Given the description of an element on the screen output the (x, y) to click on. 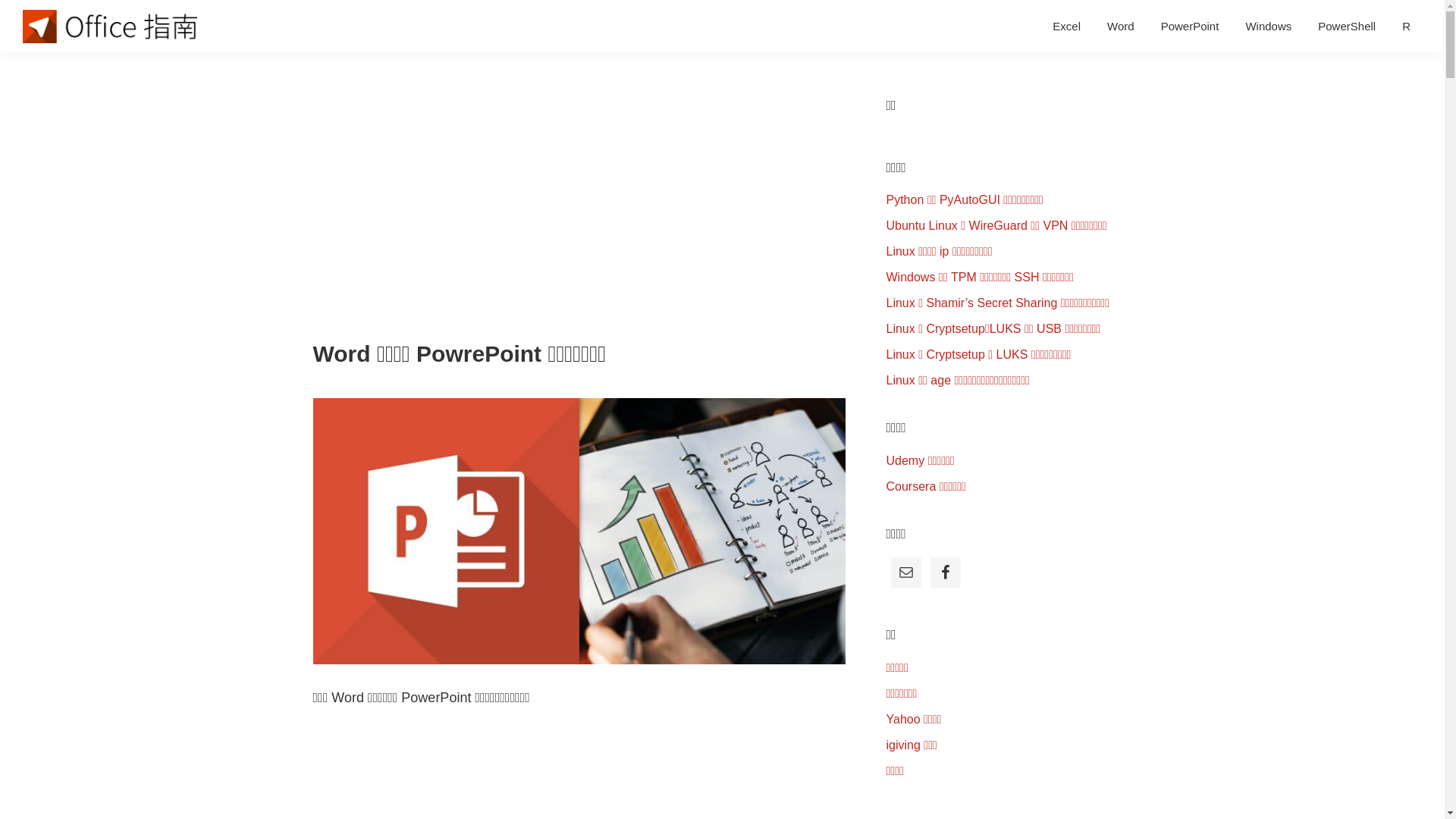
PowerPoint Element type: text (1189, 25)
PowerShell Element type: text (1346, 25)
R Element type: text (1405, 25)
Word Element type: text (1120, 25)
Windows Element type: text (1267, 25)
Excel Element type: text (1066, 25)
Advertisement Element type: hover (578, 203)
